Given the description of an element on the screen output the (x, y) to click on. 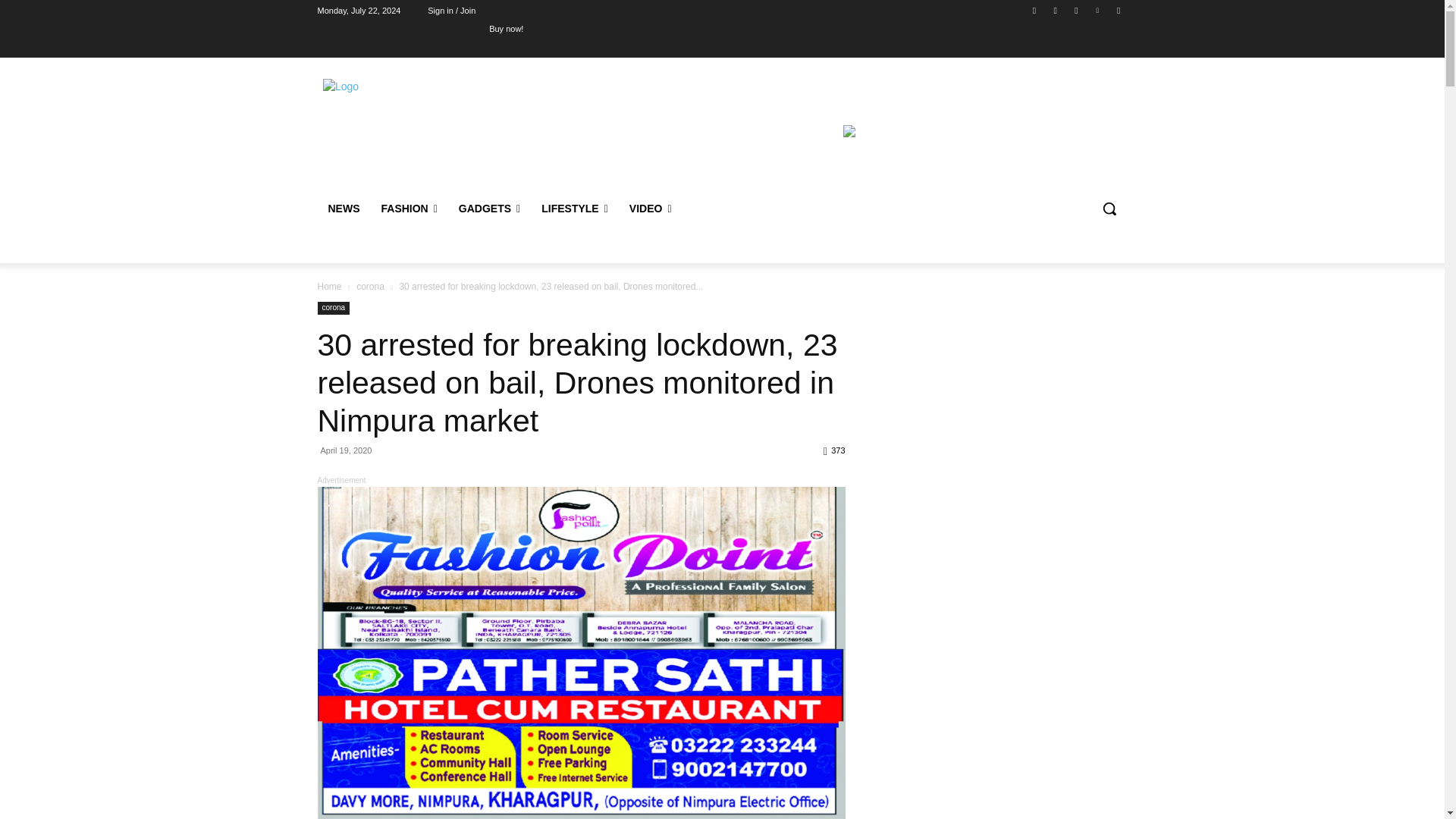
Twitter (1075, 9)
Youtube (1117, 9)
Buy now! (505, 28)
NEWS (343, 208)
GADGETS (489, 208)
Facebook (1034, 9)
LIFESTYLE (574, 208)
VIDEO (650, 208)
FASHION (407, 208)
Vimeo (1097, 9)
Instagram (1055, 9)
